Given the description of an element on the screen output the (x, y) to click on. 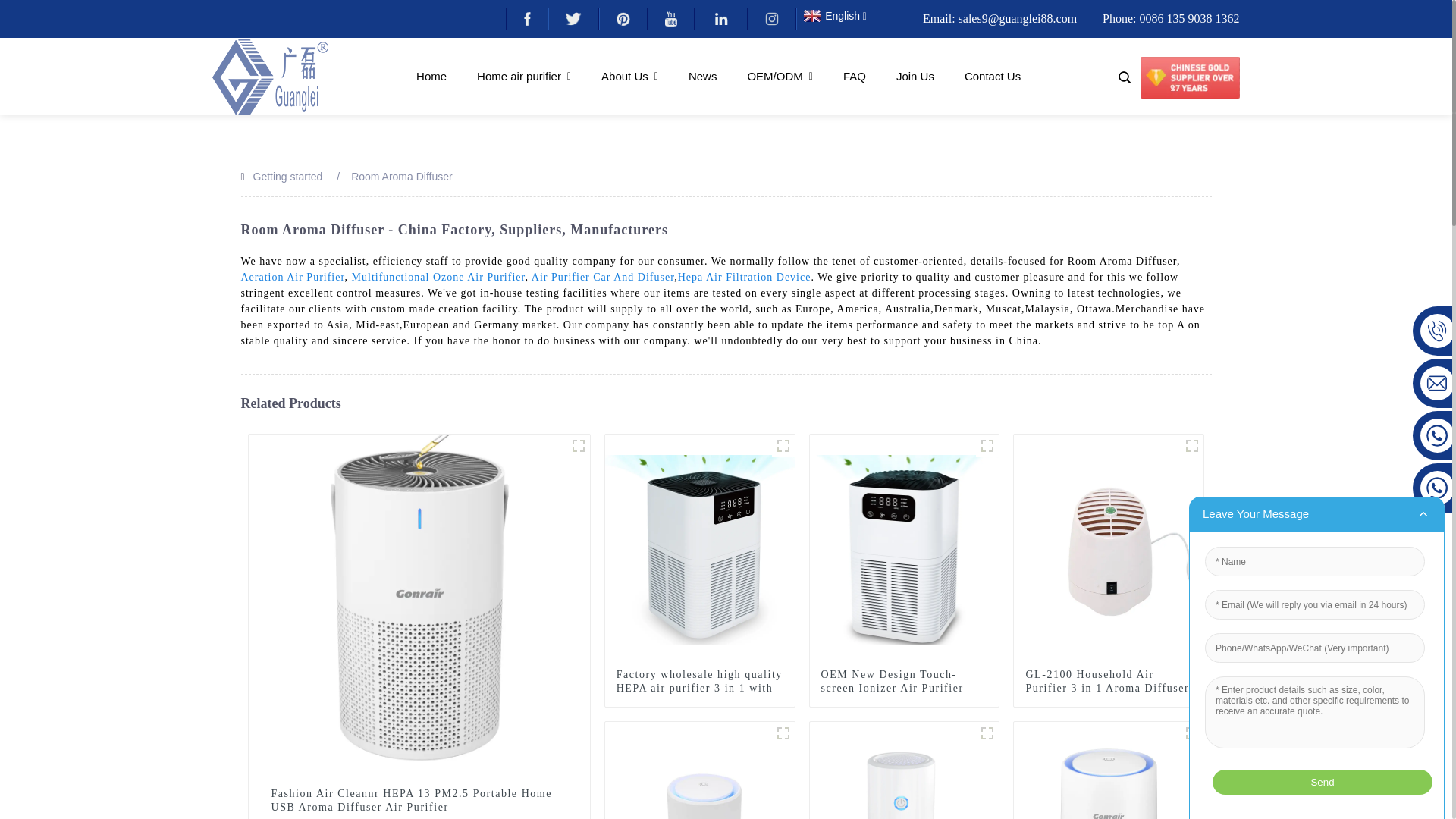
sns03 (622, 18)
Home (431, 76)
3 (578, 445)
About Us (629, 76)
Aeration Air Purifier (293, 276)
sns04 (670, 18)
Multifunctional Ozone Air Purifier (438, 276)
in (721, 18)
Home air purifier (523, 76)
Join Us (915, 76)
Getting started (288, 176)
